Given the description of an element on the screen output the (x, y) to click on. 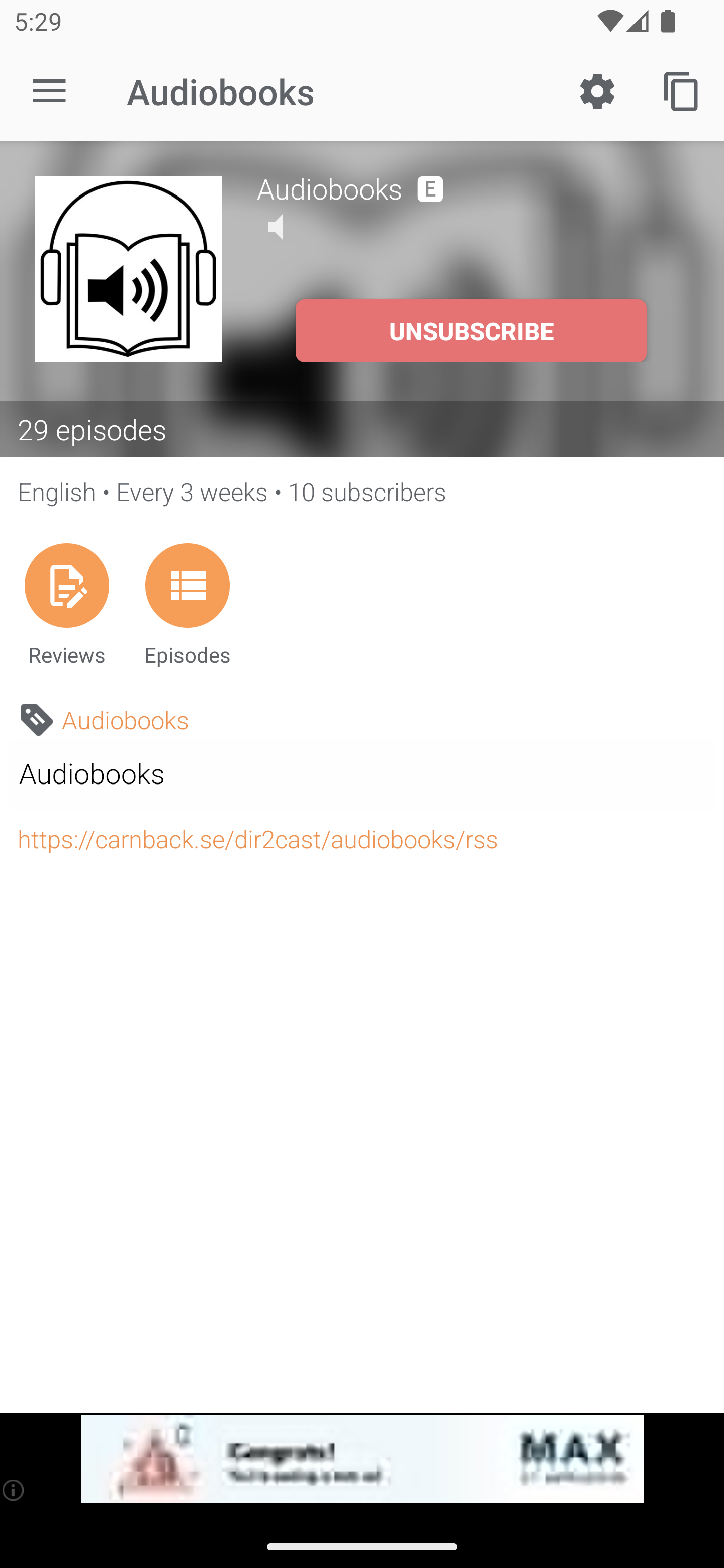
Open navigation sidebar (49, 91)
Settings (597, 90)
Copy feed url to clipboard (681, 90)
Audiobooks  🅴 (472, 186)
UNSUBSCRIBE (470, 330)
Reviews (66, 604)
Episodes (187, 604)
app-monetization (362, 1459)
(i) (14, 1489)
